Given the description of an element on the screen output the (x, y) to click on. 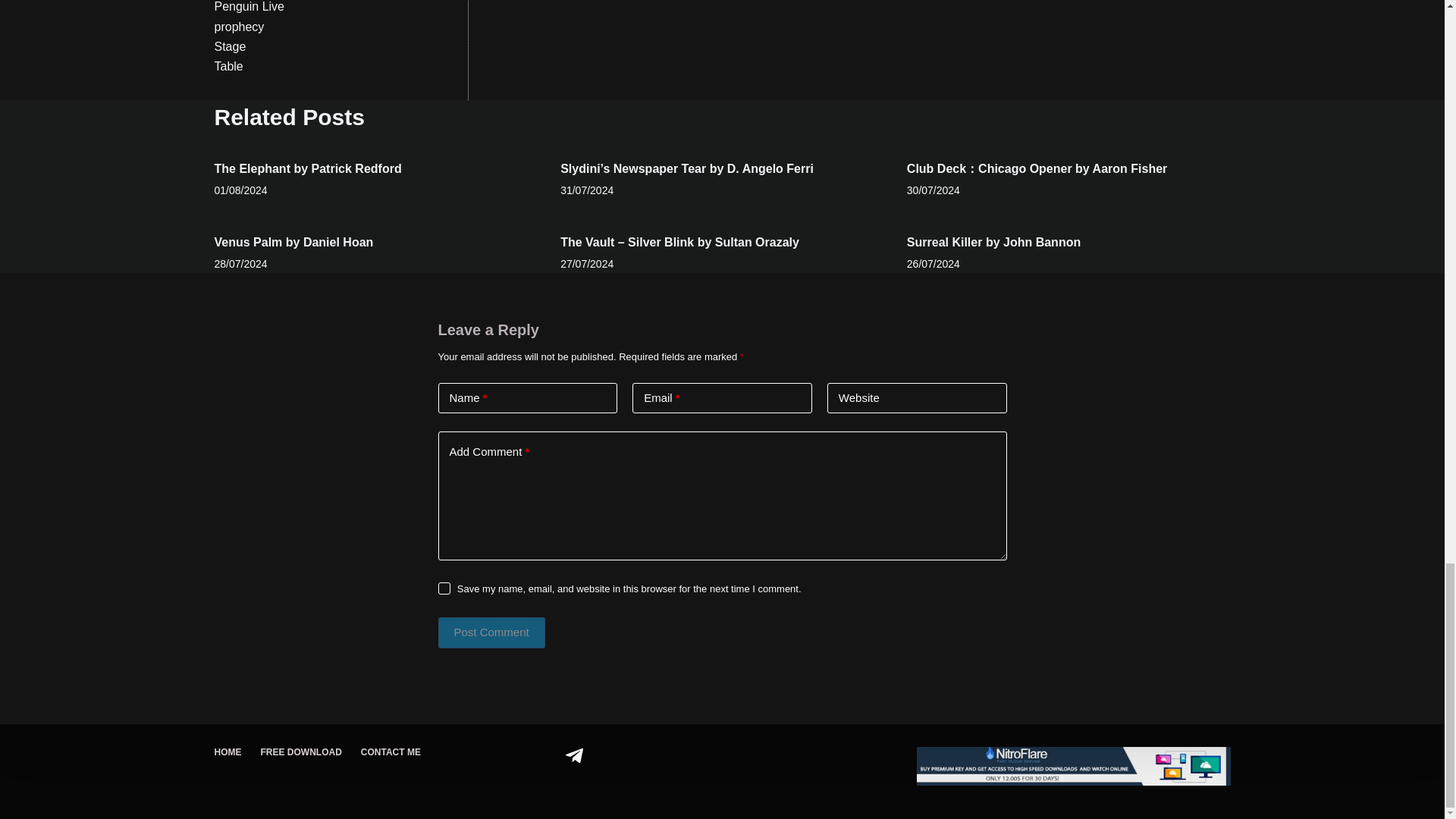
yes (443, 588)
